Given the description of an element on the screen output the (x, y) to click on. 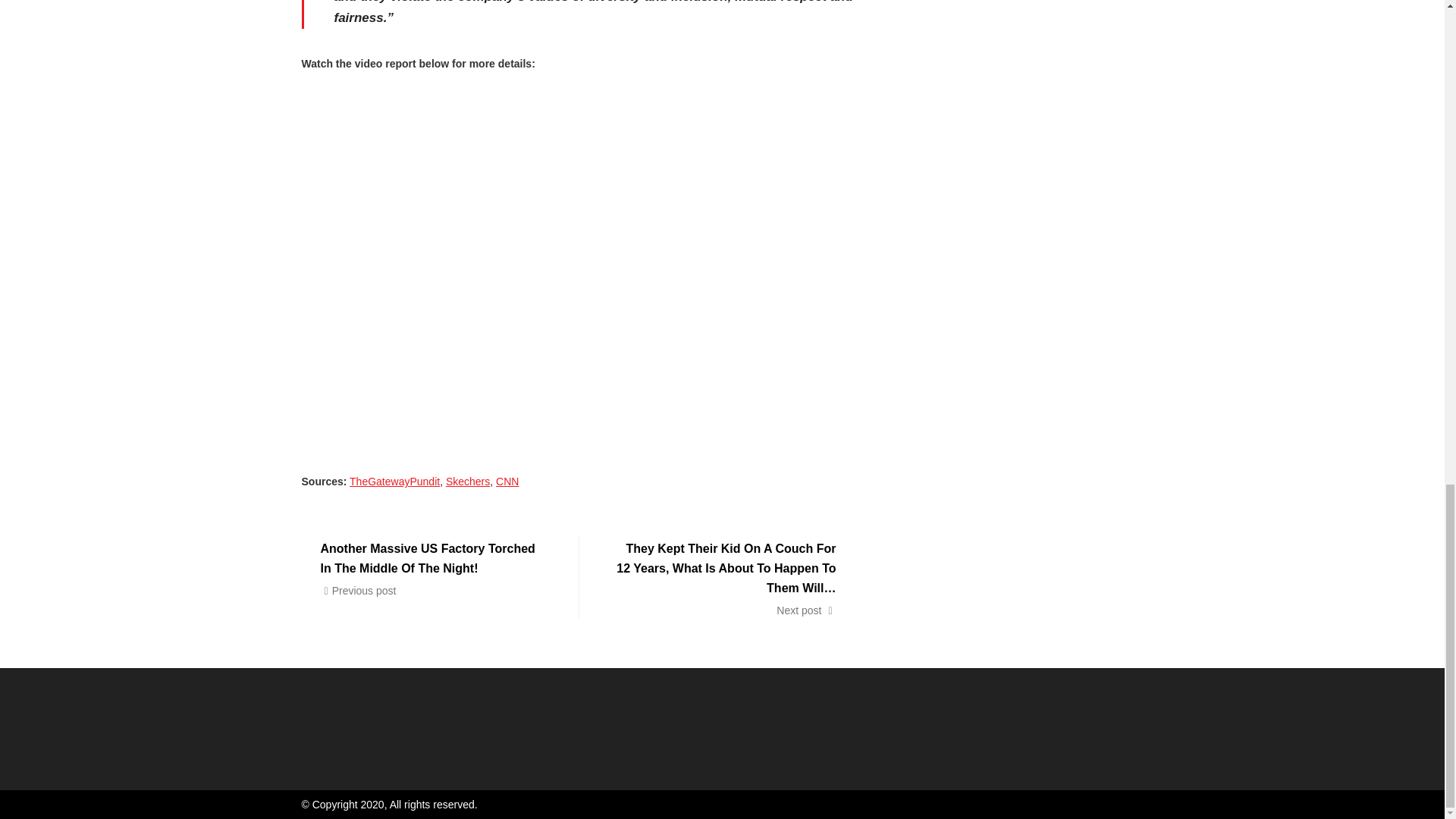
TheGatewayPundit (394, 481)
Skechers (467, 481)
CNN (507, 481)
